Given the description of an element on the screen output the (x, y) to click on. 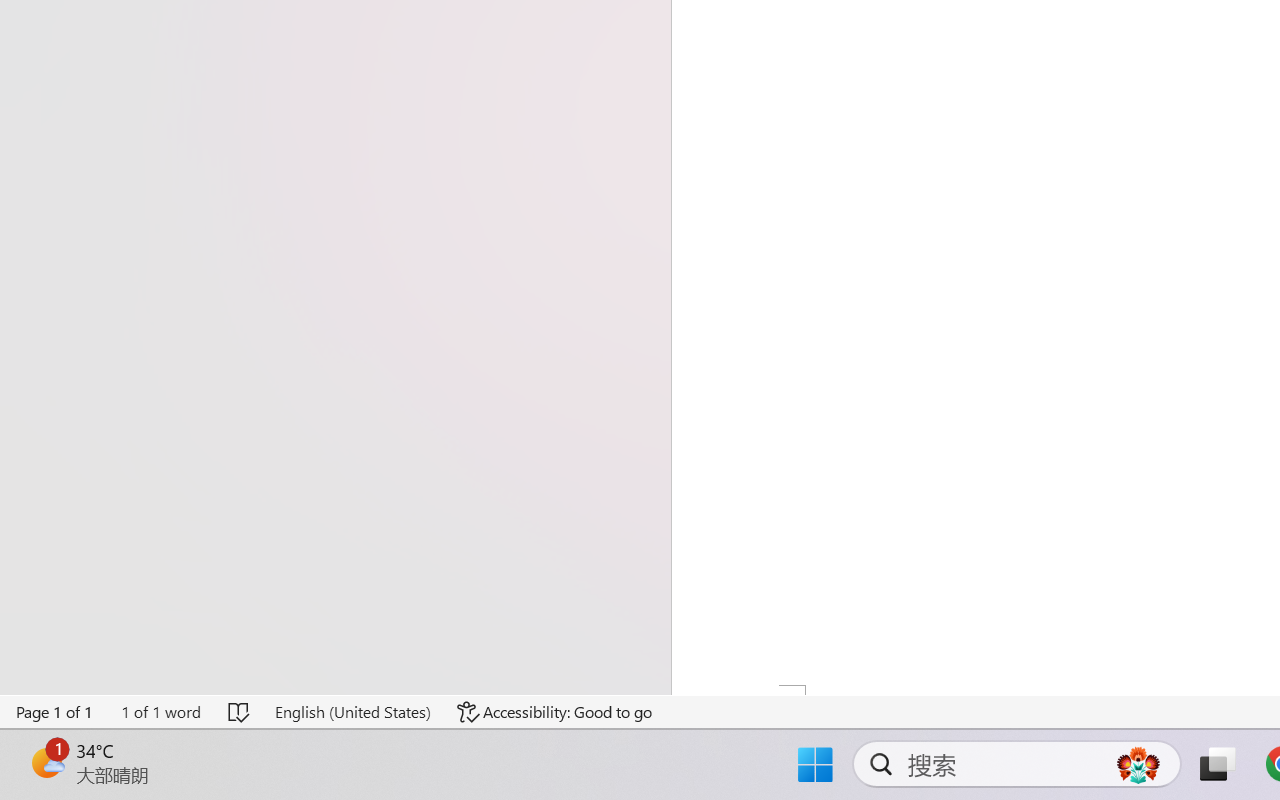
Page Number Page 1 of 1 (55, 712)
